Given the description of an element on the screen output the (x, y) to click on. 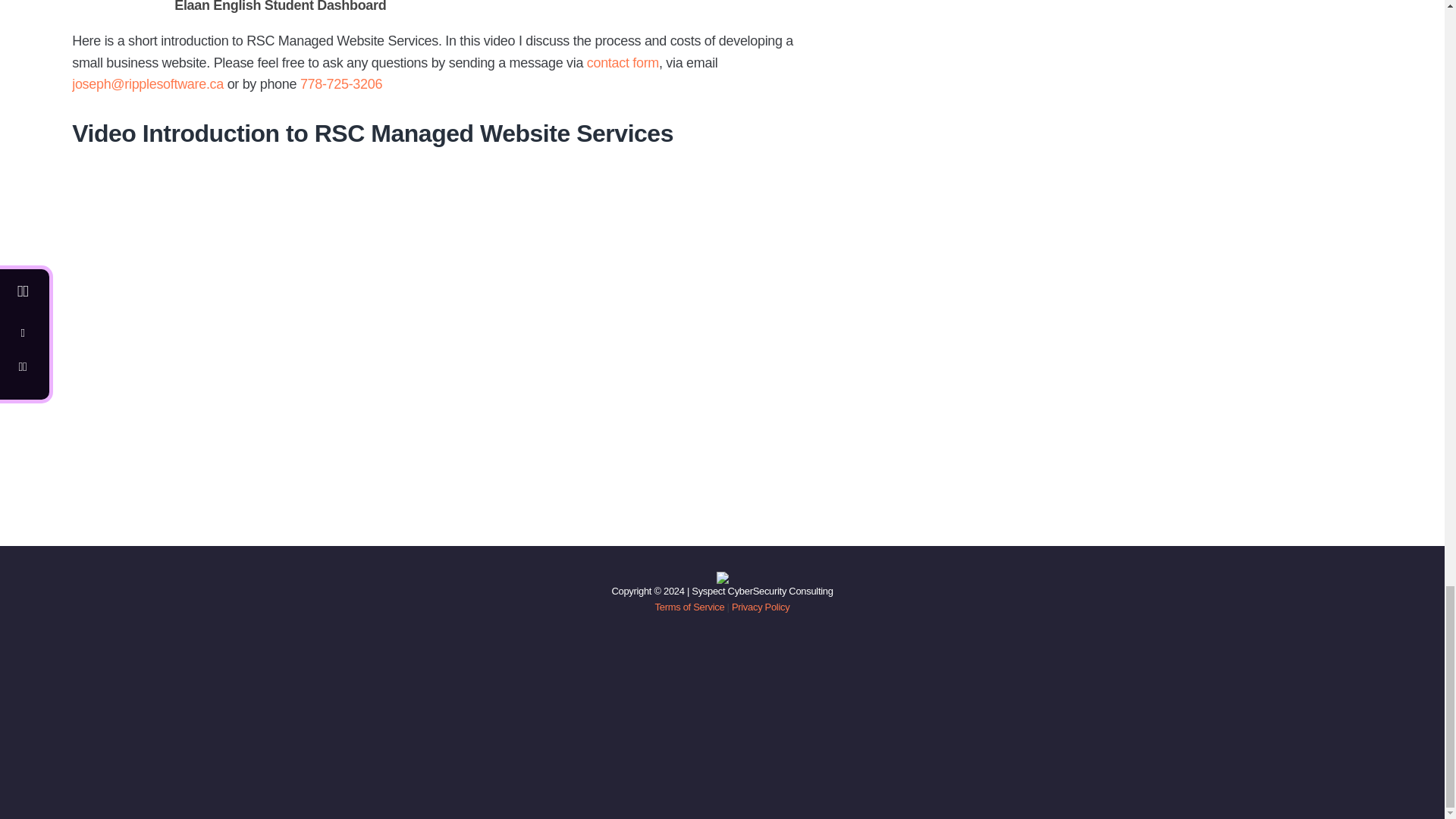
contact form (622, 62)
778-725-3206 (340, 83)
